Given the description of an element on the screen output the (x, y) to click on. 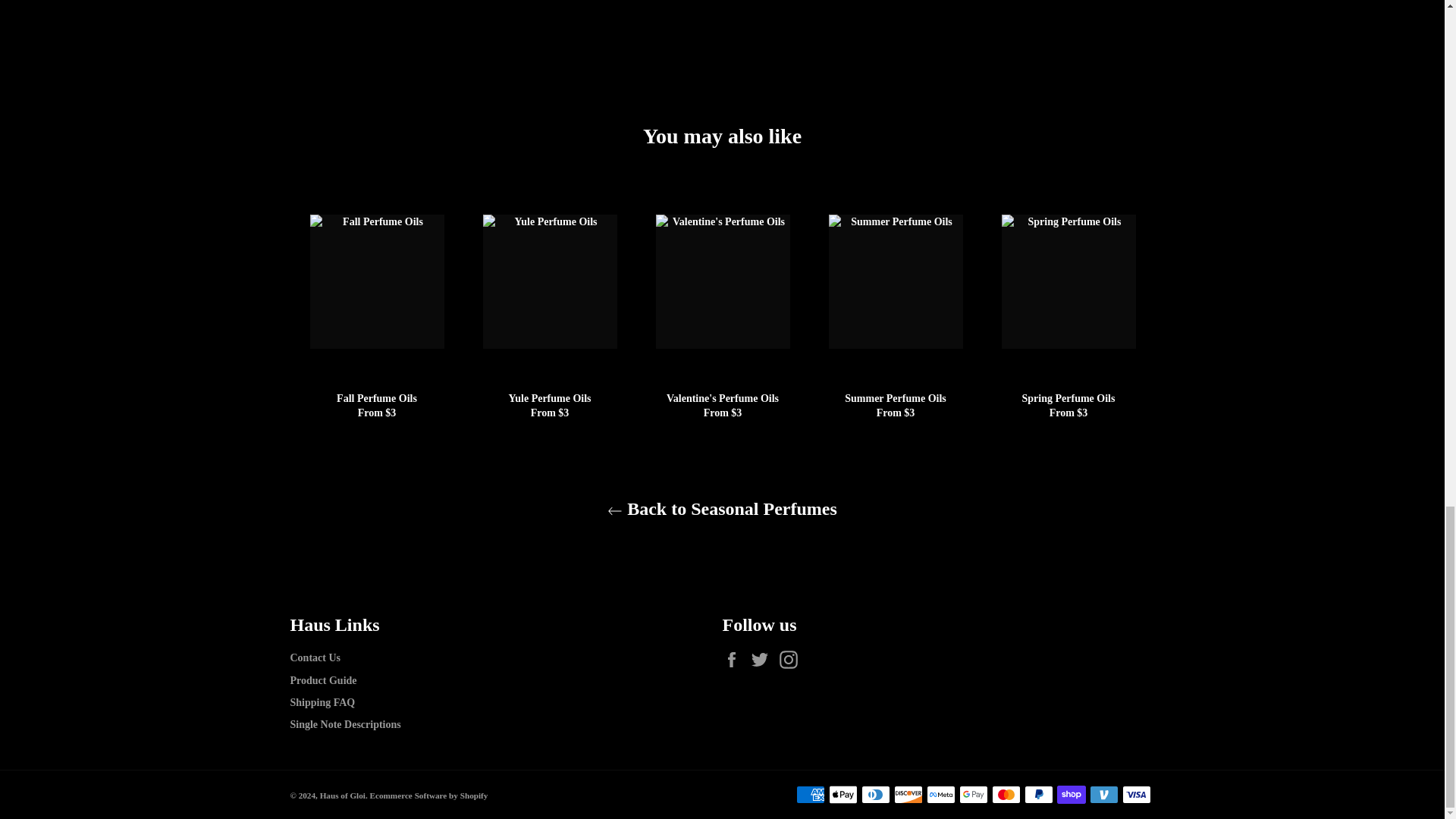
Haus of Gloi on Instagram (791, 659)
Haus of Gloi on Facebook (735, 659)
Haus of Gloi on Twitter (763, 659)
